Given the description of an element on the screen output the (x, y) to click on. 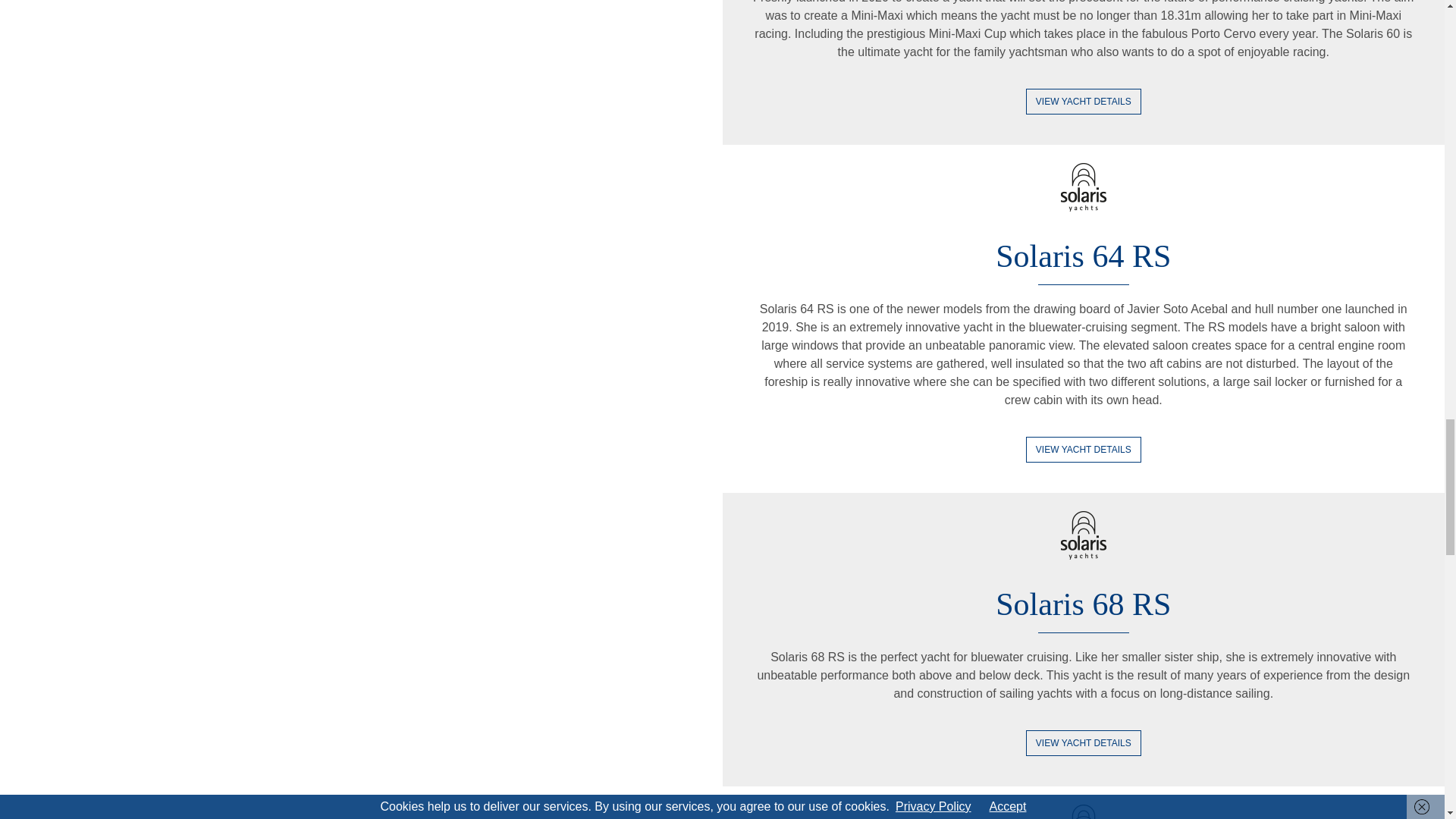
VIEW YACHT DETAILS (1083, 742)
Solaris 68 RS (1082, 604)
VIEW YACHT DETAILS (1083, 449)
VIEW YACHT DETAILS (1083, 101)
Solaris 64 RS (1082, 256)
